Given the description of an element on the screen output the (x, y) to click on. 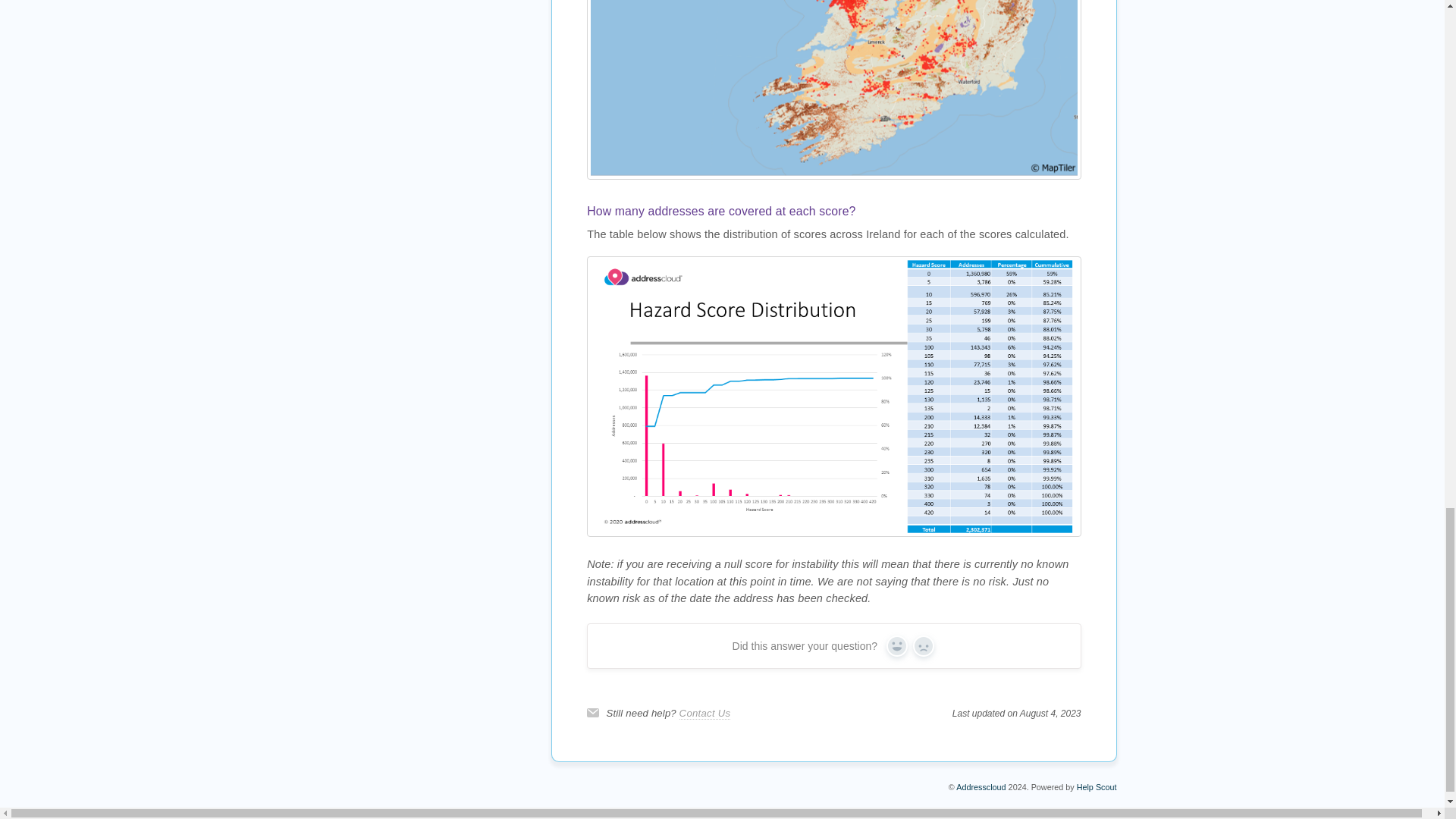
Addresscloud (981, 786)
No (923, 645)
Help Scout (1096, 786)
Yes (896, 645)
Contact Us (704, 713)
